Given the description of an element on the screen output the (x, y) to click on. 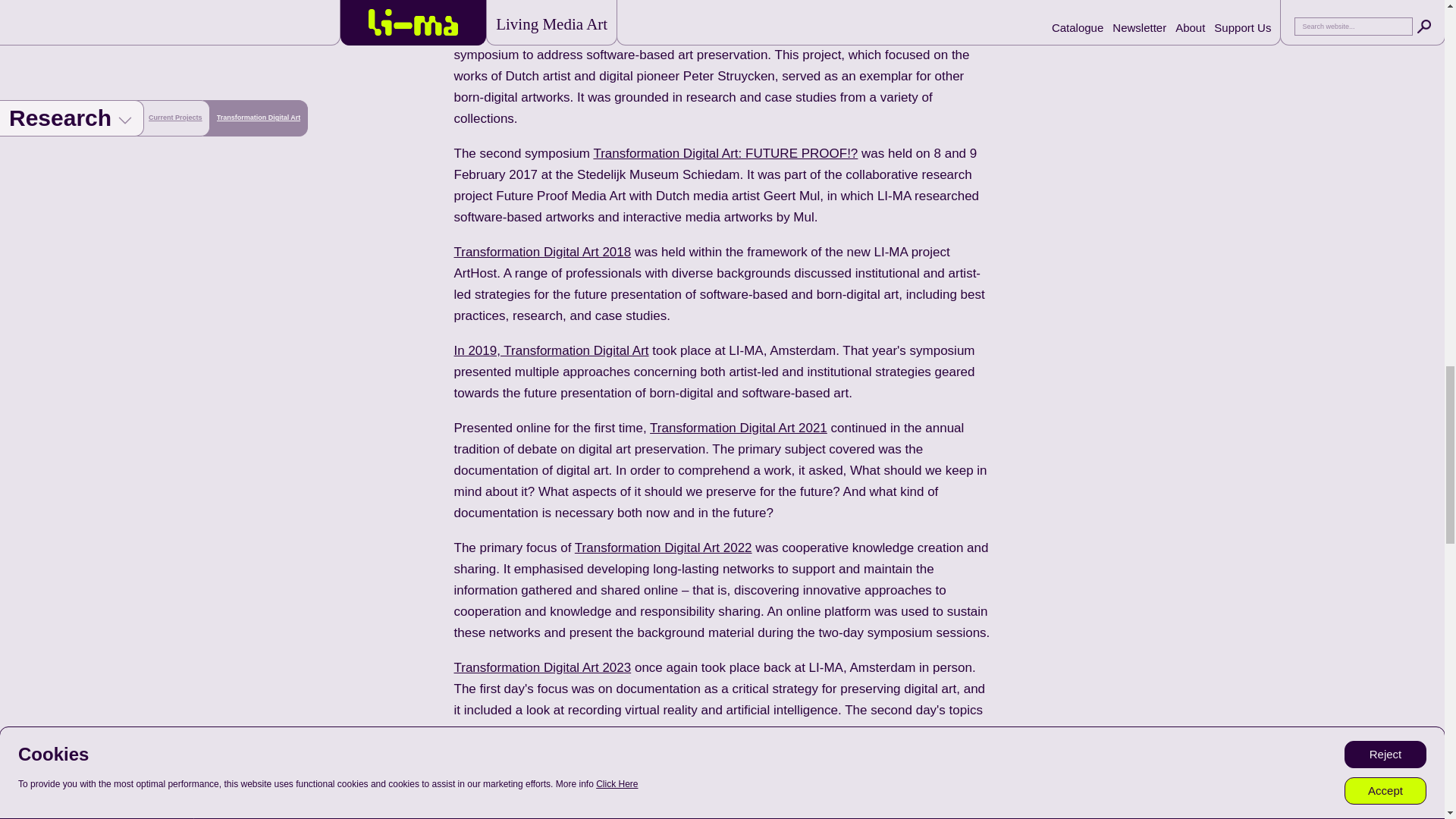
Transformation Digital Art: FUTURE PROOF!? (724, 153)
Transformation Digital Art (644, 11)
Transformation Digital Art 2022 (663, 547)
Transformation Digital Art 2023 (541, 667)
Transformation Digital Art 2021 (738, 427)
Transformation Digital Art 2018 (541, 251)
In 2019, Transformation Digital Art (549, 350)
